Given the description of an element on the screen output the (x, y) to click on. 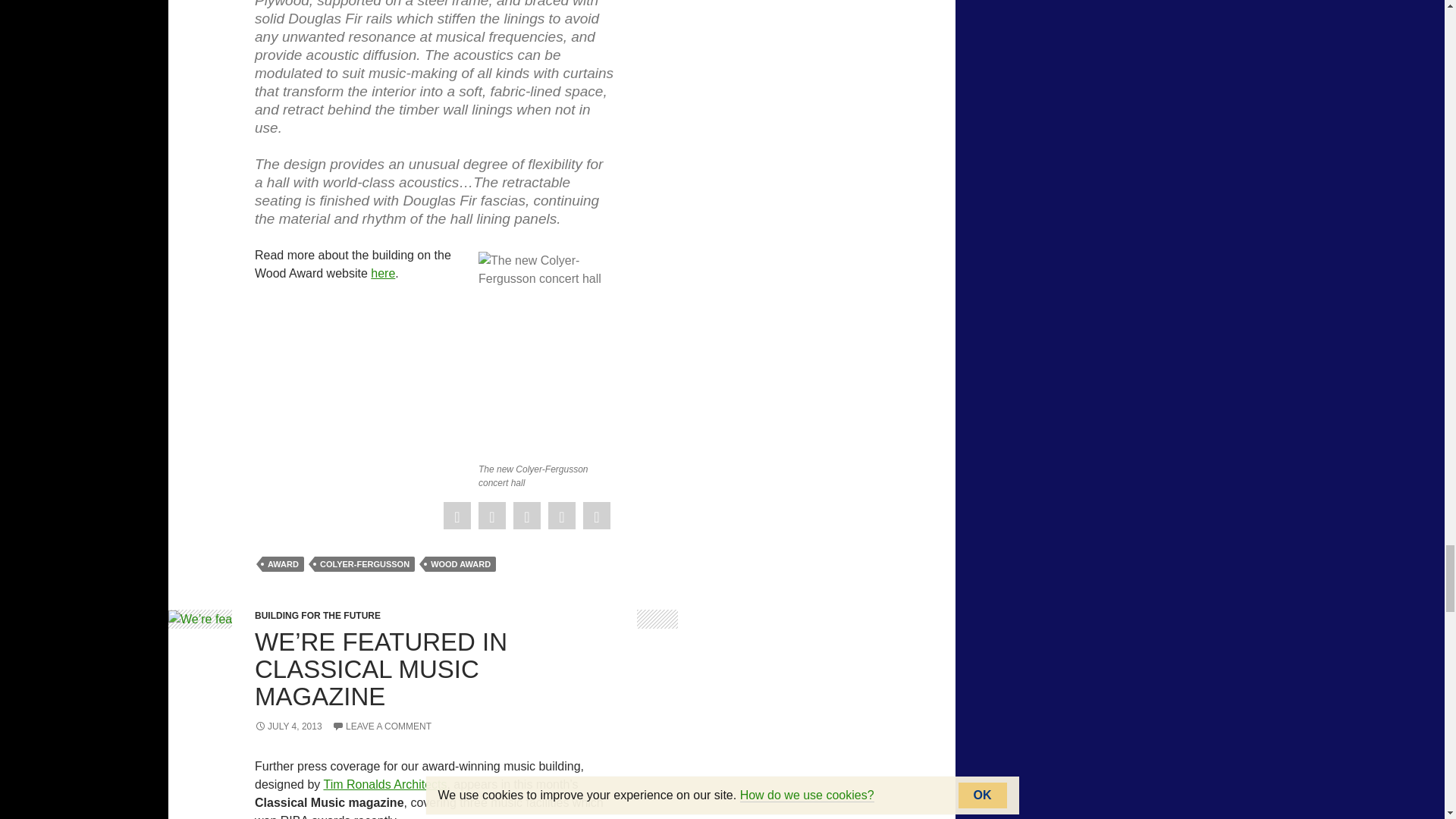
Share via Twitter (491, 515)
Share via Linked In (561, 515)
Read article (382, 273)
Share via Email (596, 515)
View website (384, 784)
Share via Facebook (456, 515)
Share via Google Plus (526, 515)
here (382, 273)
